Given the description of an element on the screen output the (x, y) to click on. 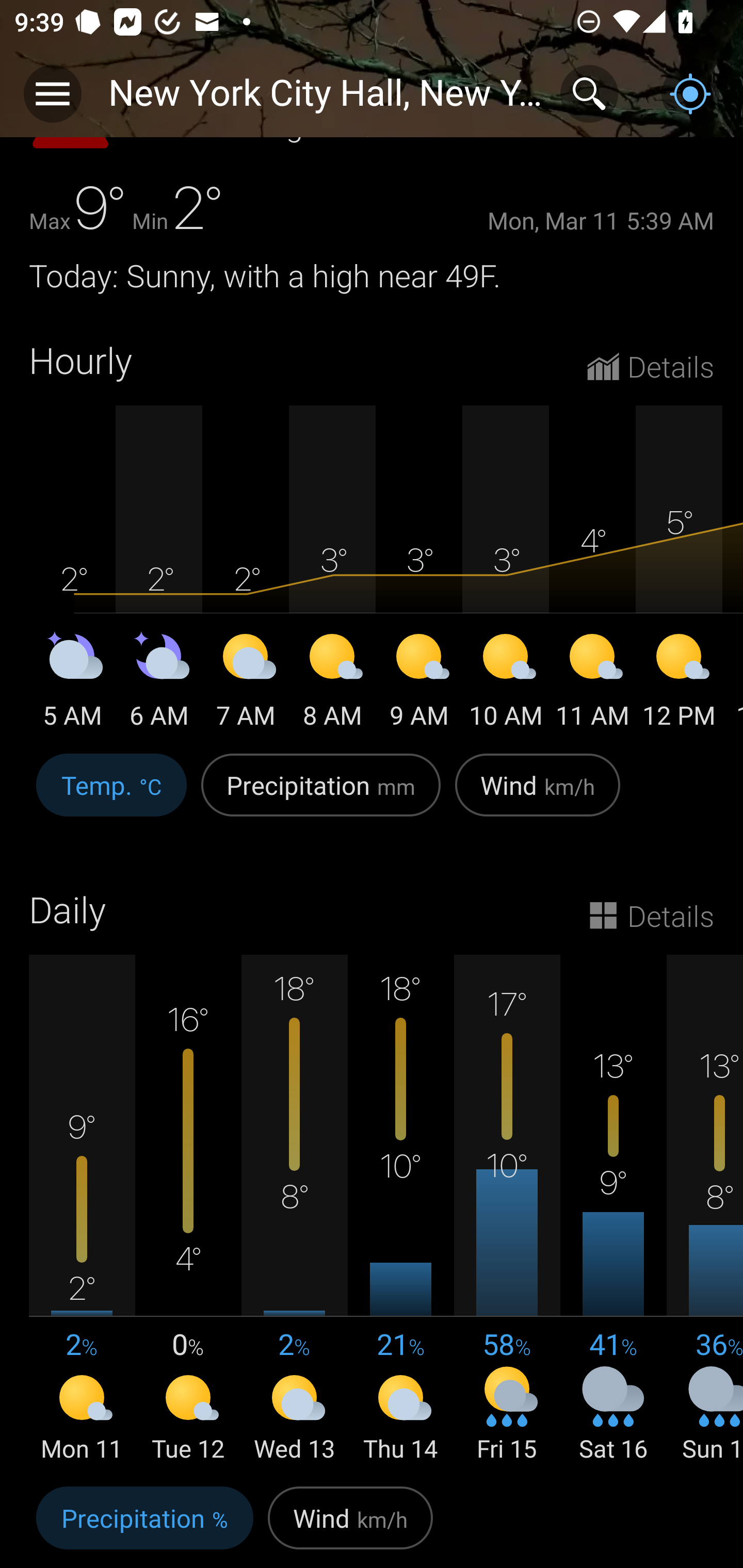
5 AM (71, 684)
6 AM (158, 684)
7 AM (245, 684)
8 AM (332, 684)
9 AM (418, 684)
10 AM (505, 684)
11 AM (592, 684)
12 PM (679, 684)
Temp. °C (110, 795)
Precipitation mm (320, 795)
Wind km/h (537, 795)
9° 2° 2 % Mon 11 (81, 1209)
16° 4° 0 % Tue 12 (188, 1209)
18° 8° 2 % Wed 13 (294, 1209)
18° 10° 21 % Thu 14 (400, 1209)
17° 10° 58 % Fri 15 (506, 1209)
13° 9° 41 % Sat 16 (613, 1209)
13° 8° 36 % Sun 17 (704, 1209)
Precipitation % (144, 1523)
Wind km/h (349, 1523)
